Given the description of an element on the screen output the (x, y) to click on. 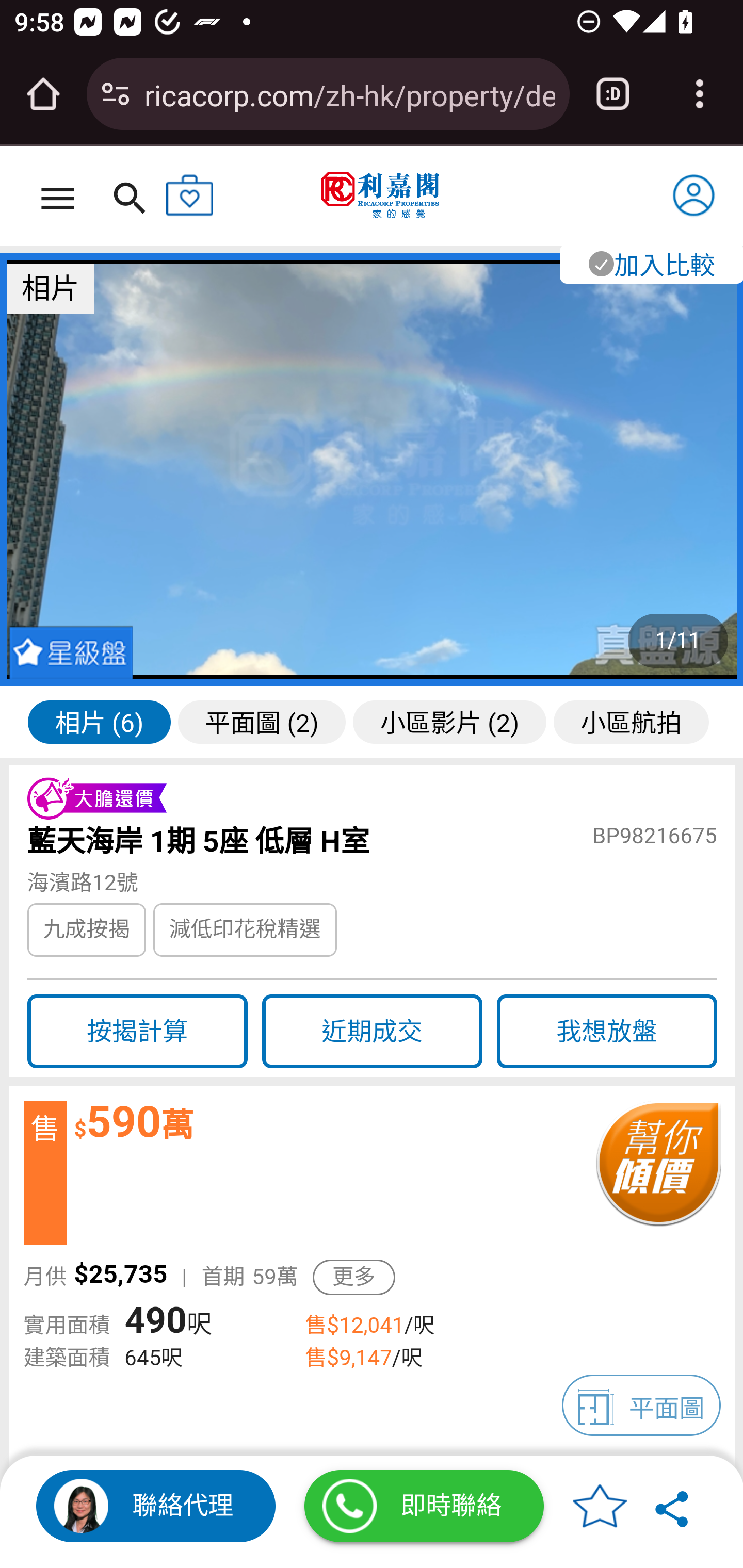
Open the home page (43, 93)
Connection is secure (115, 93)
Switch or close tabs (612, 93)
Customize and control Google Chrome (699, 93)
unchecked 加入比較 (650, 263)
按揭計算 (136, 1030)
地圖 (371, 1030)
我想放盤 (606, 1030)
平面圖 (641, 1404)
Janet Chow 聯絡代理 (156, 1505)
whatsapp 即時聯絡 (424, 1505)
Share button (672, 1505)
